Given the description of an element on the screen output the (x, y) to click on. 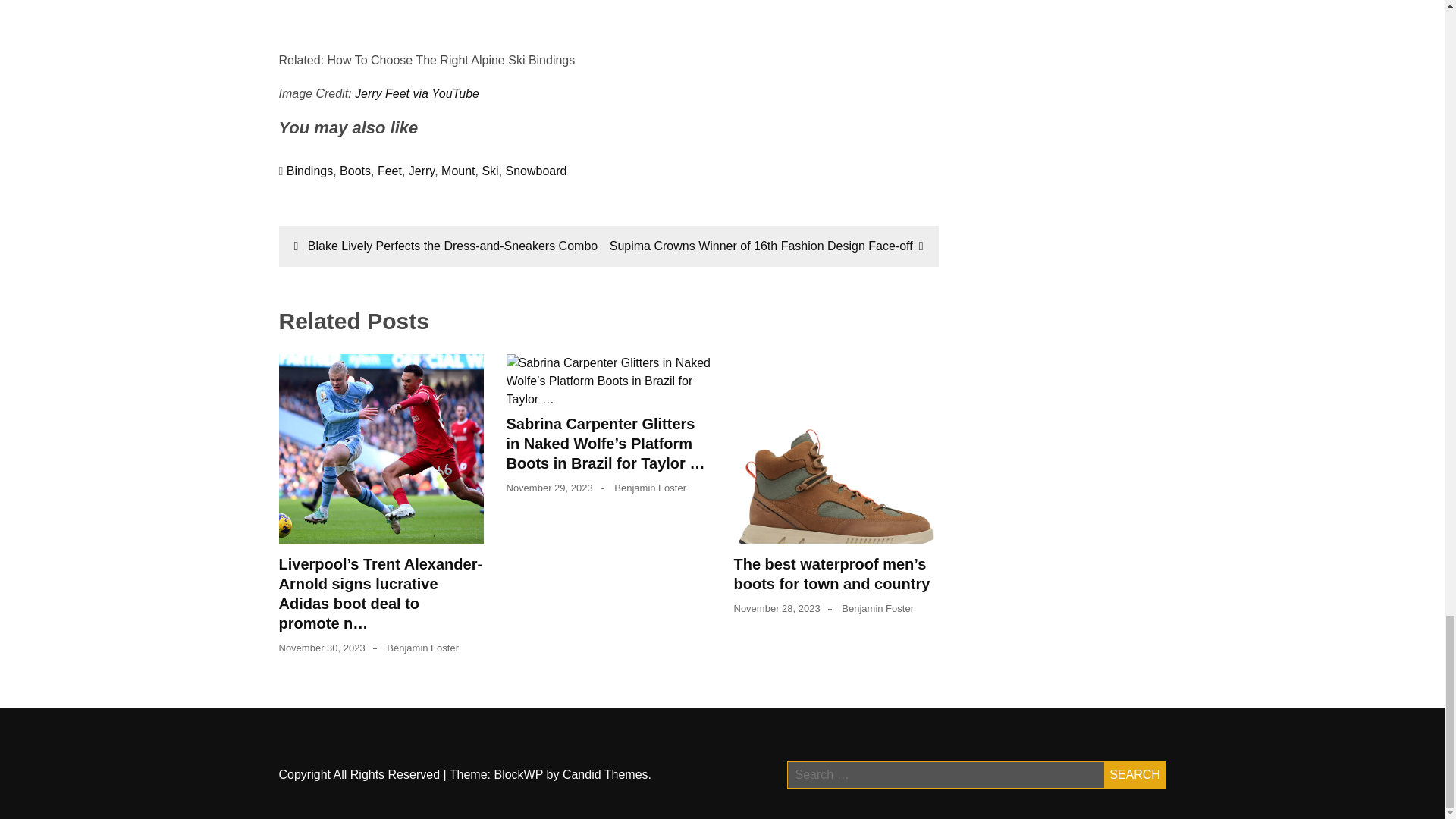
Search (1134, 774)
Search (1134, 774)
